Given the description of an element on the screen output the (x, y) to click on. 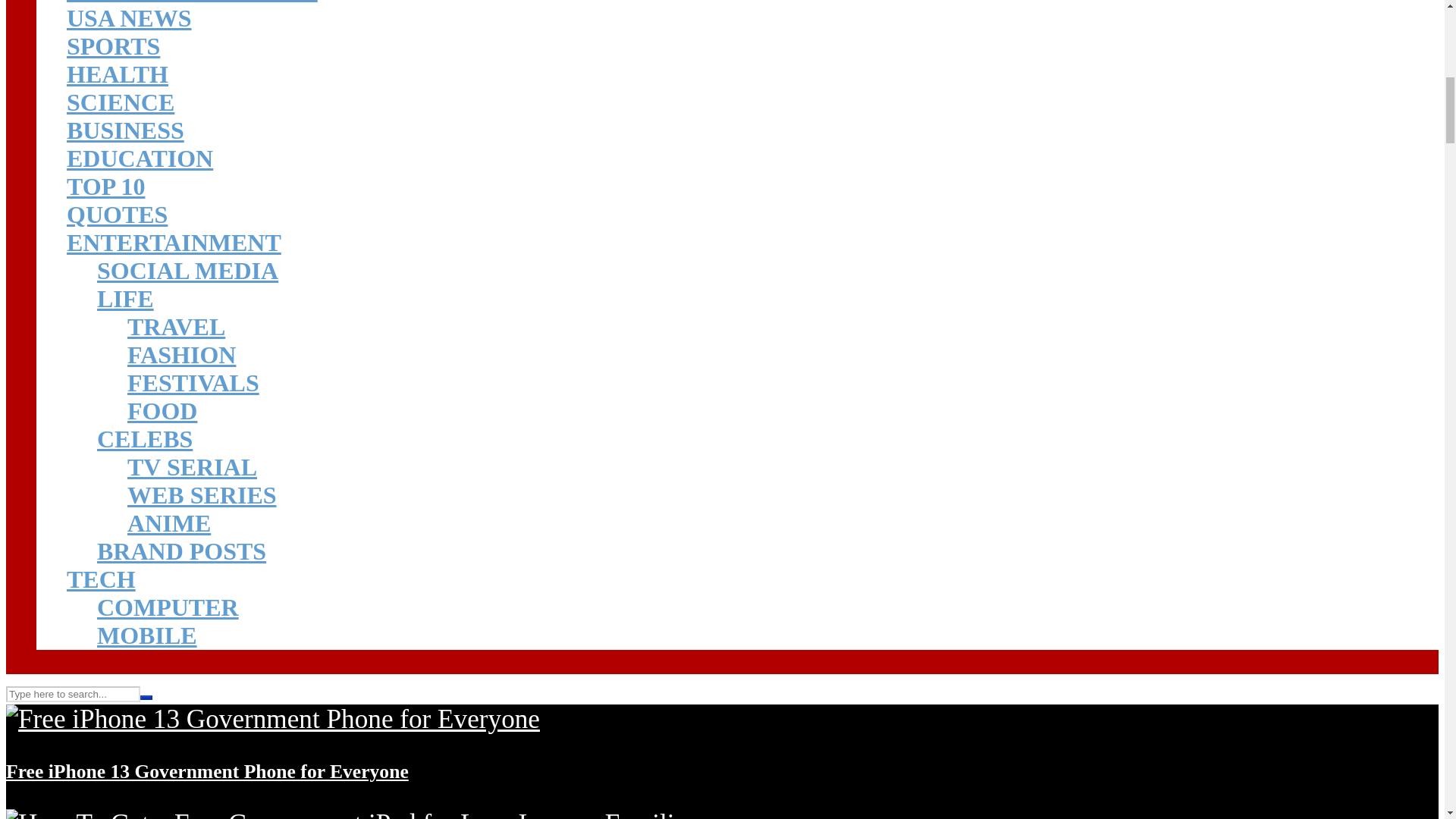
How To Get a Free Government iPad for Low-Income Families (351, 814)
TOP 10 (105, 185)
Free iPhone 13 Government Phone for Everyone (272, 718)
HEALTH (117, 73)
EDUCATION (139, 157)
TRAVEL (176, 326)
ENTERTAINMENT (173, 242)
SCIENCE (120, 102)
FASHION (181, 354)
SPORTS (113, 45)
